Given the description of an element on the screen output the (x, y) to click on. 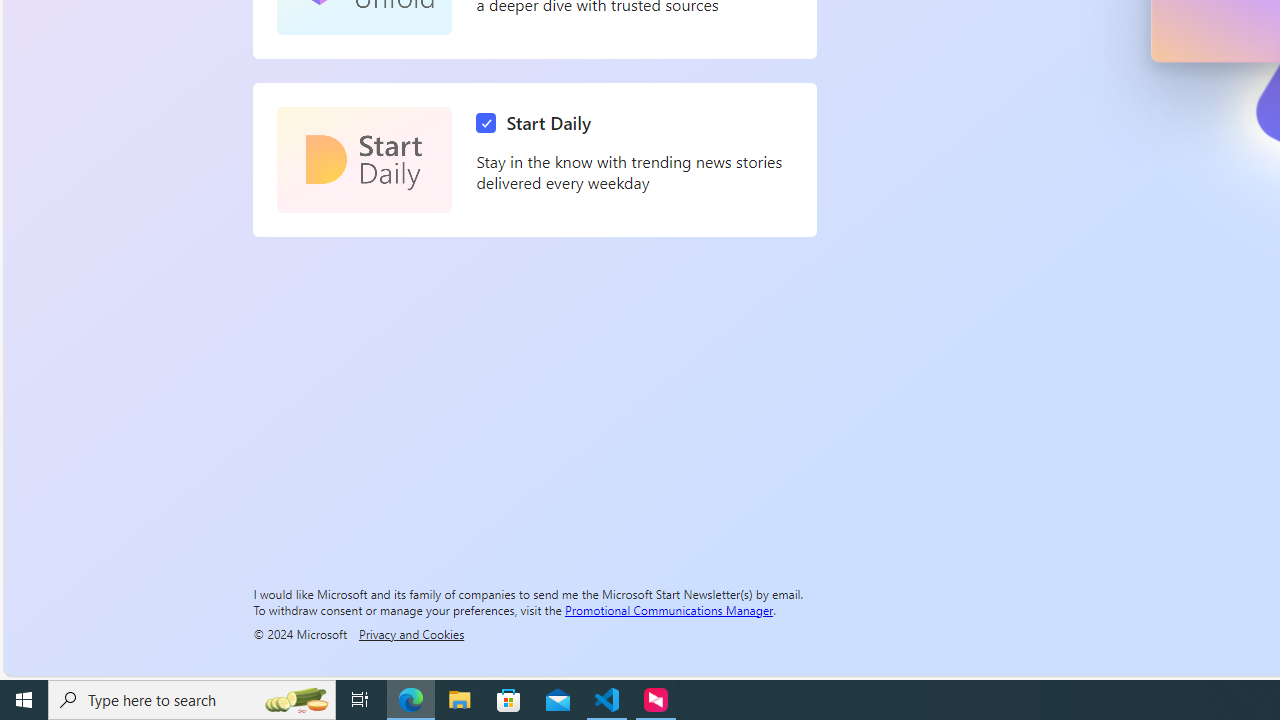
Start Daily (364, 160)
Start Daily (538, 123)
Privacy and Cookies (411, 633)
Promotional Communications Manager (669, 609)
